Given the description of an element on the screen output the (x, y) to click on. 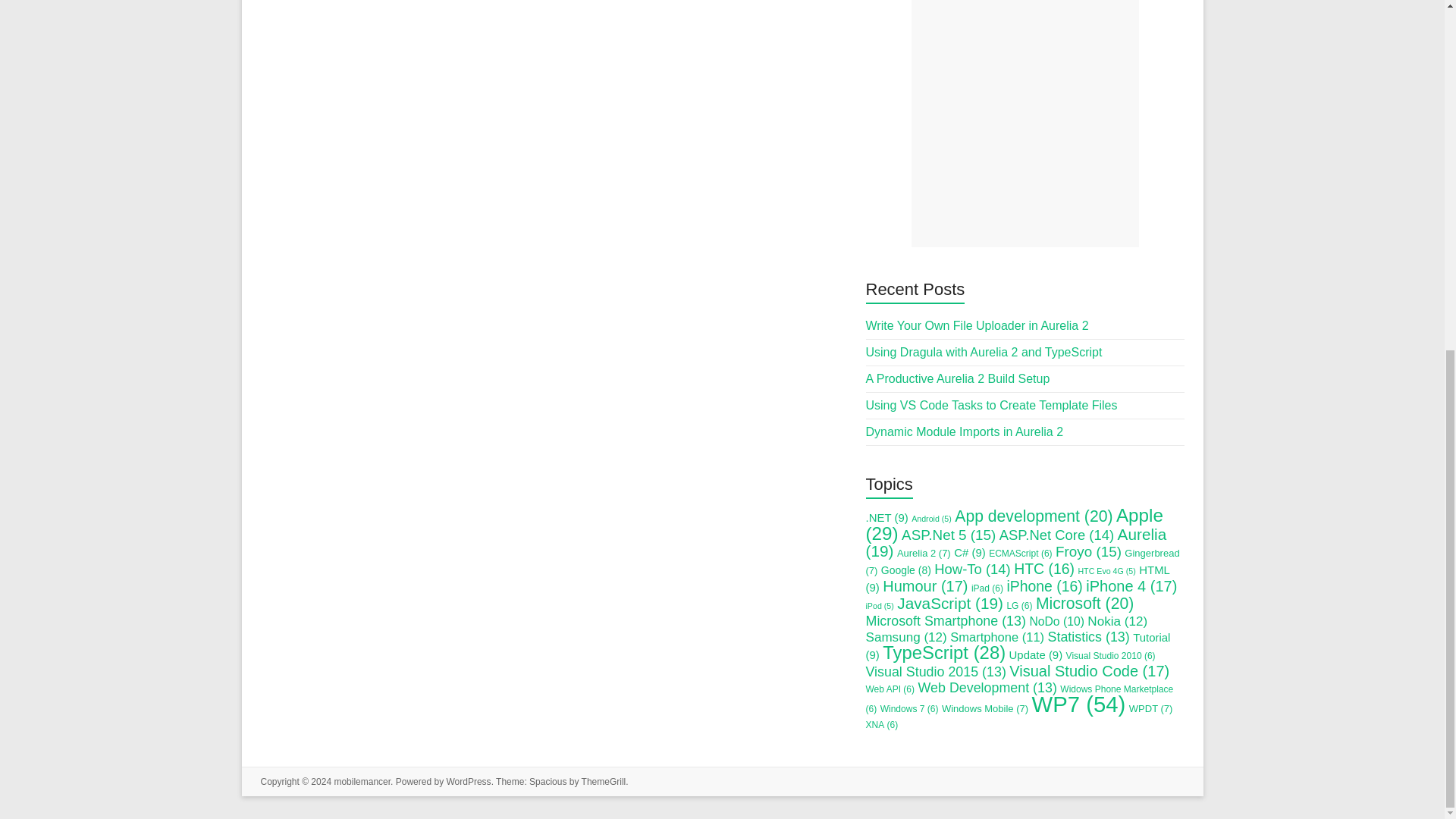
WordPress (467, 781)
Write Your Own File Uploader in Aurelia 2 (977, 325)
A Productive Aurelia 2 Build Setup (957, 378)
Using Dragula with Aurelia 2 and TypeScript (984, 351)
Using VS Code Tasks to Create Template Files (992, 404)
ThemeGrill (603, 781)
mobilemancer (361, 781)
Dynamic Module Imports in Aurelia 2 (965, 431)
Advertisement (1024, 123)
